Given the description of an element on the screen output the (x, y) to click on. 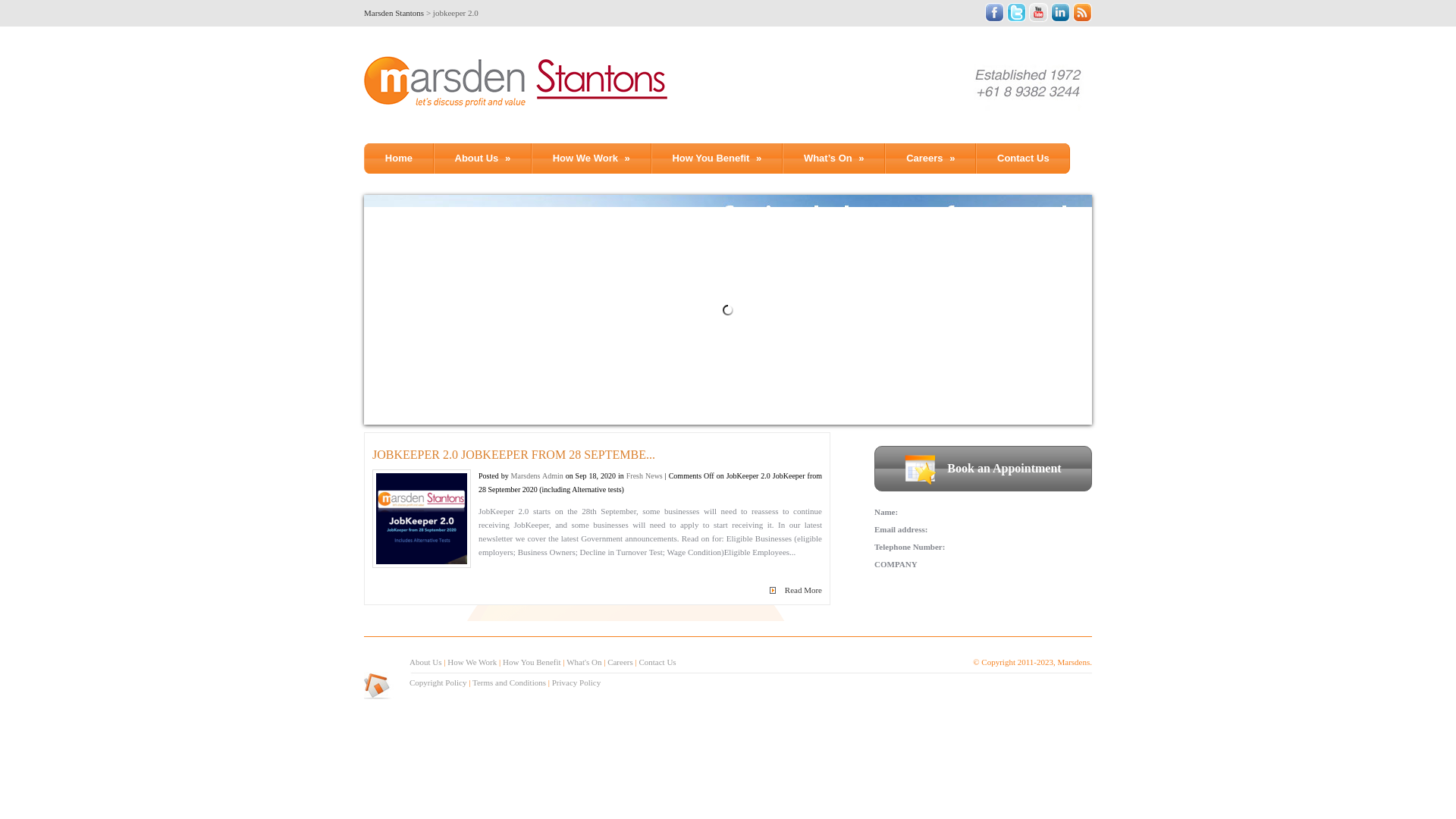
Fresh News Element type: text (644, 475)
Read More Element type: text (803, 589)
Contact Us Element type: text (656, 661)
What's On Element type: text (583, 661)
Book an Appointment Element type: text (983, 468)
1 Element type: text (409, 385)
8 Element type: text (547, 385)
11 Element type: text (607, 385)
7 Element type: text (528, 385)
Home Element type: text (398, 158)
Privacy Policy Element type: text (576, 682)
2 Element type: text (429, 385)
How We Work Element type: text (471, 661)
Marsden Stantons Element type: text (393, 12)
JOBKEEPER 2.0 JOBKEEPER FROM 28 SEPTEMBE... Element type: text (597, 454)
How You Benefit Element type: text (531, 661)
Contact Us Element type: text (1022, 158)
Careers Element type: text (620, 661)
Terms and Conditions Element type: text (509, 682)
4 Element type: text (469, 385)
10 Element type: text (587, 385)
3 Element type: text (449, 385)
6 Element type: text (508, 385)
9 Element type: text (567, 385)
Marsdens Admin Element type: text (537, 475)
5 Element type: text (488, 385)
About Us Element type: text (425, 661)
Copyright Policy Element type: text (437, 682)
